Given the description of an element on the screen output the (x, y) to click on. 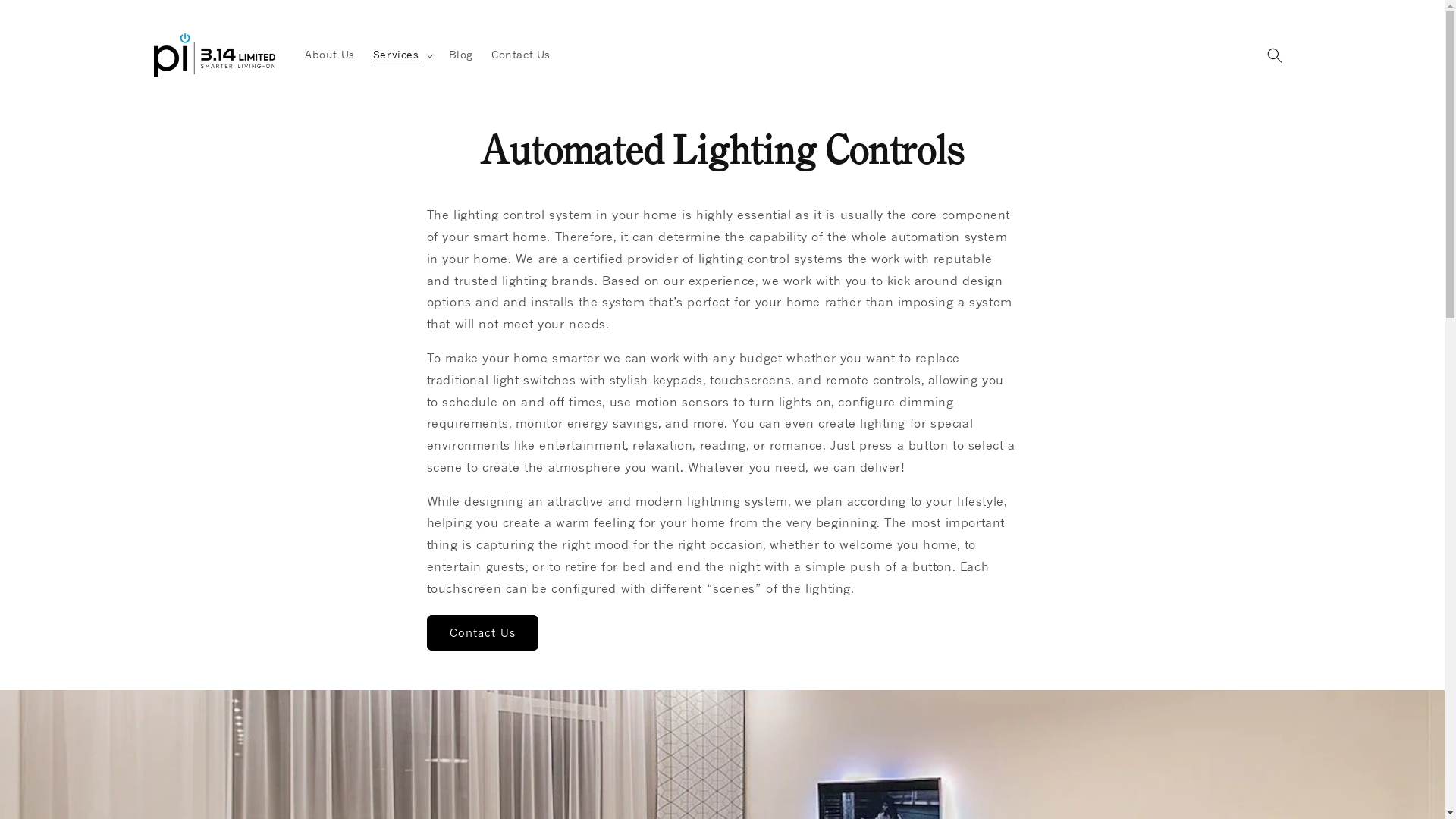
About Us Element type: text (329, 54)
Contact Us Element type: text (520, 54)
Contact Us Element type: text (481, 632)
Blog Element type: text (460, 54)
